Given the description of an element on the screen output the (x, y) to click on. 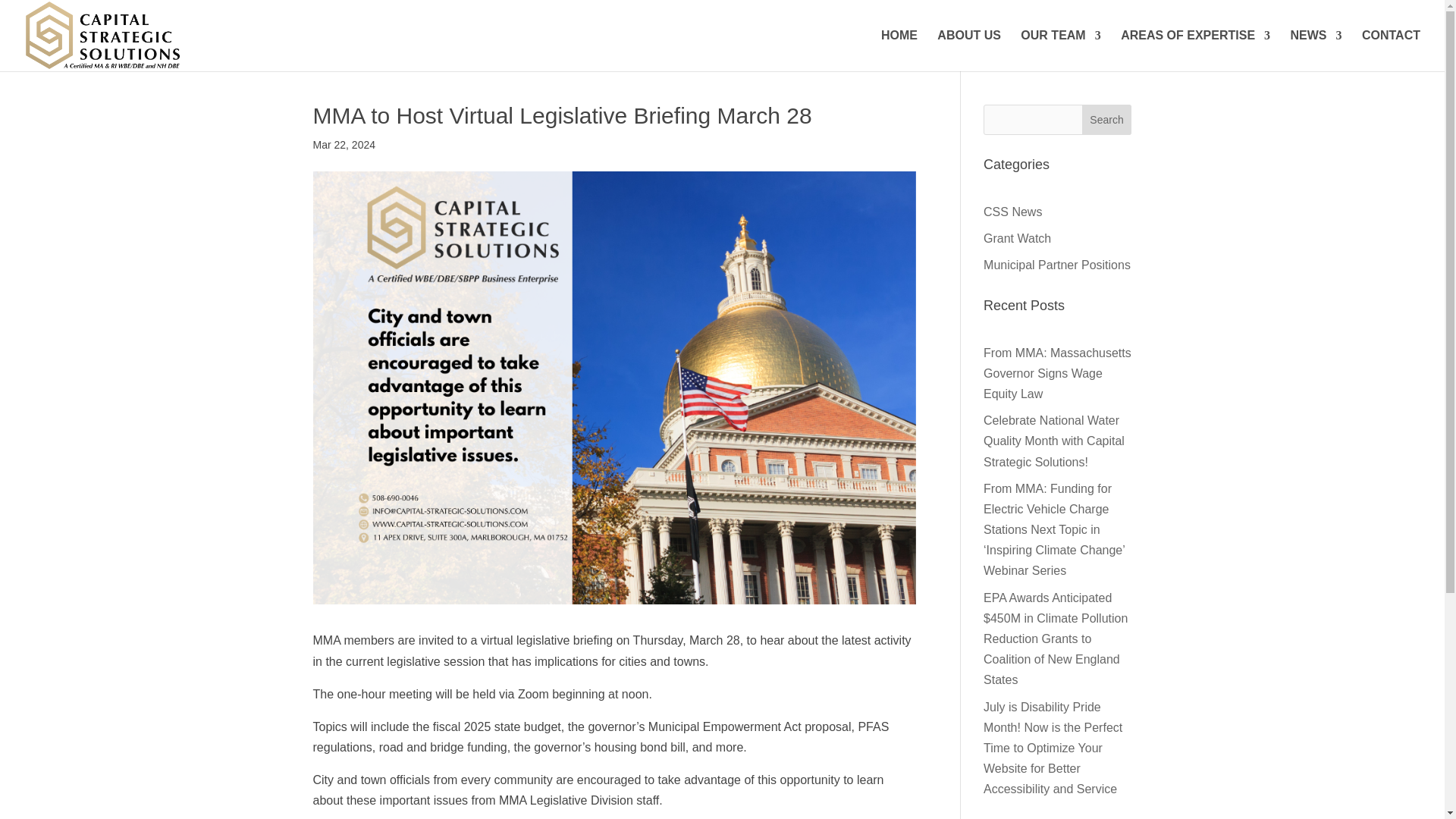
AREAS OF EXPERTISE (1195, 50)
ABOUT US (969, 50)
CONTACT (1391, 50)
HOME (898, 50)
OUR TEAM (1060, 50)
NEWS (1316, 50)
